Given the description of an element on the screen output the (x, y) to click on. 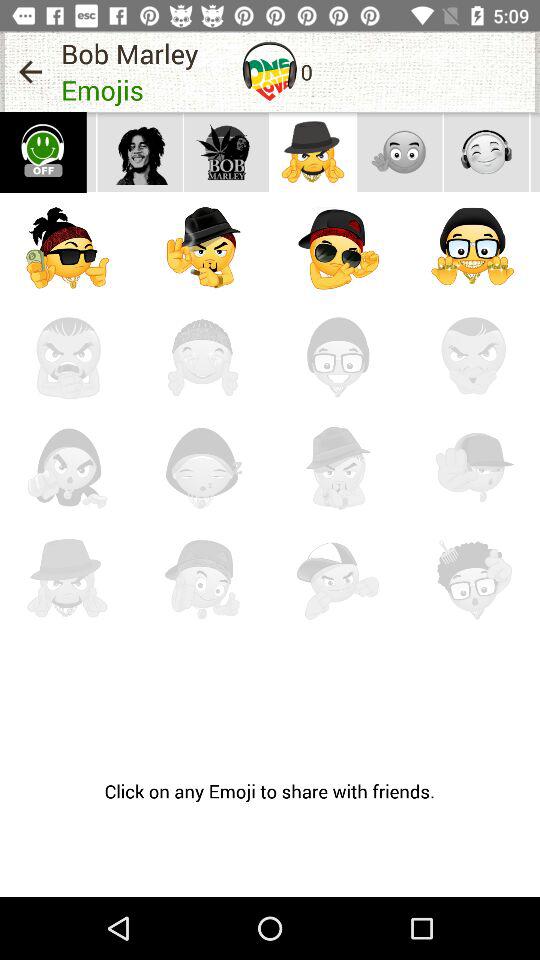
click the item to the left of the 0 icon (269, 71)
